Given the description of an element on the screen output the (x, y) to click on. 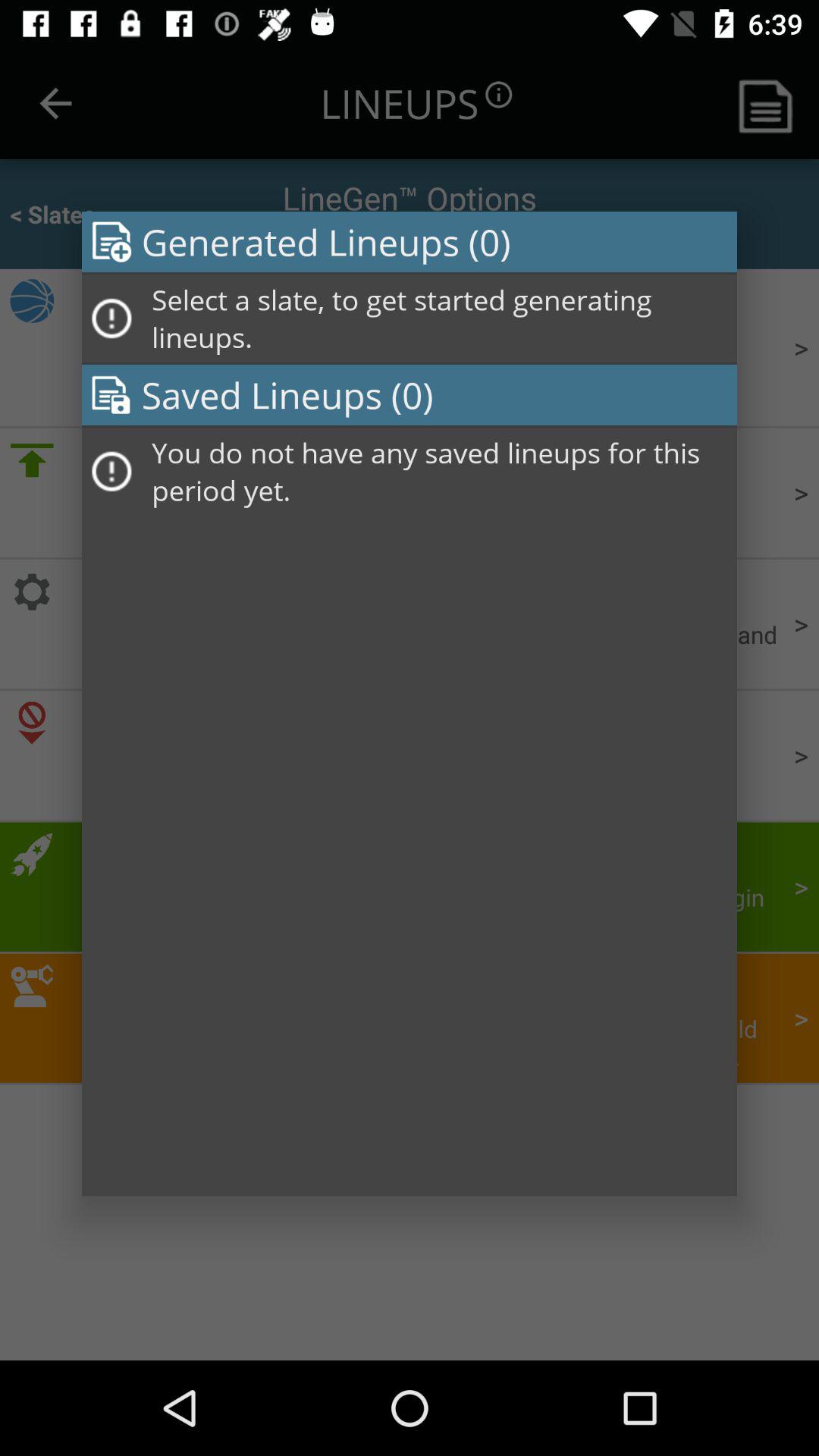
choose the icon above the saved lineups (0) (438, 318)
